Given the description of an element on the screen output the (x, y) to click on. 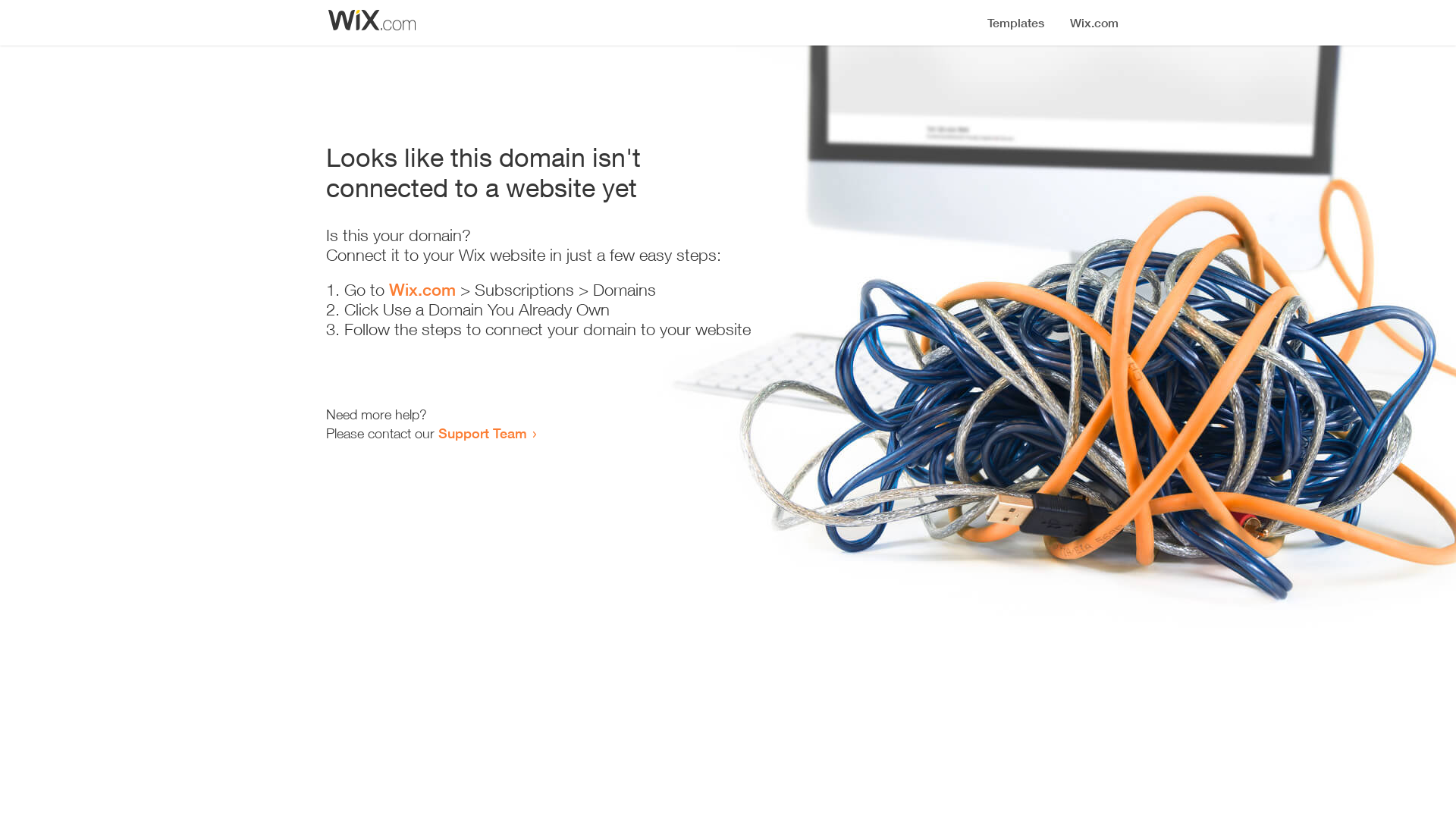
Support Team Element type: text (482, 432)
Wix.com Element type: text (422, 289)
